Given the description of an element on the screen output the (x, y) to click on. 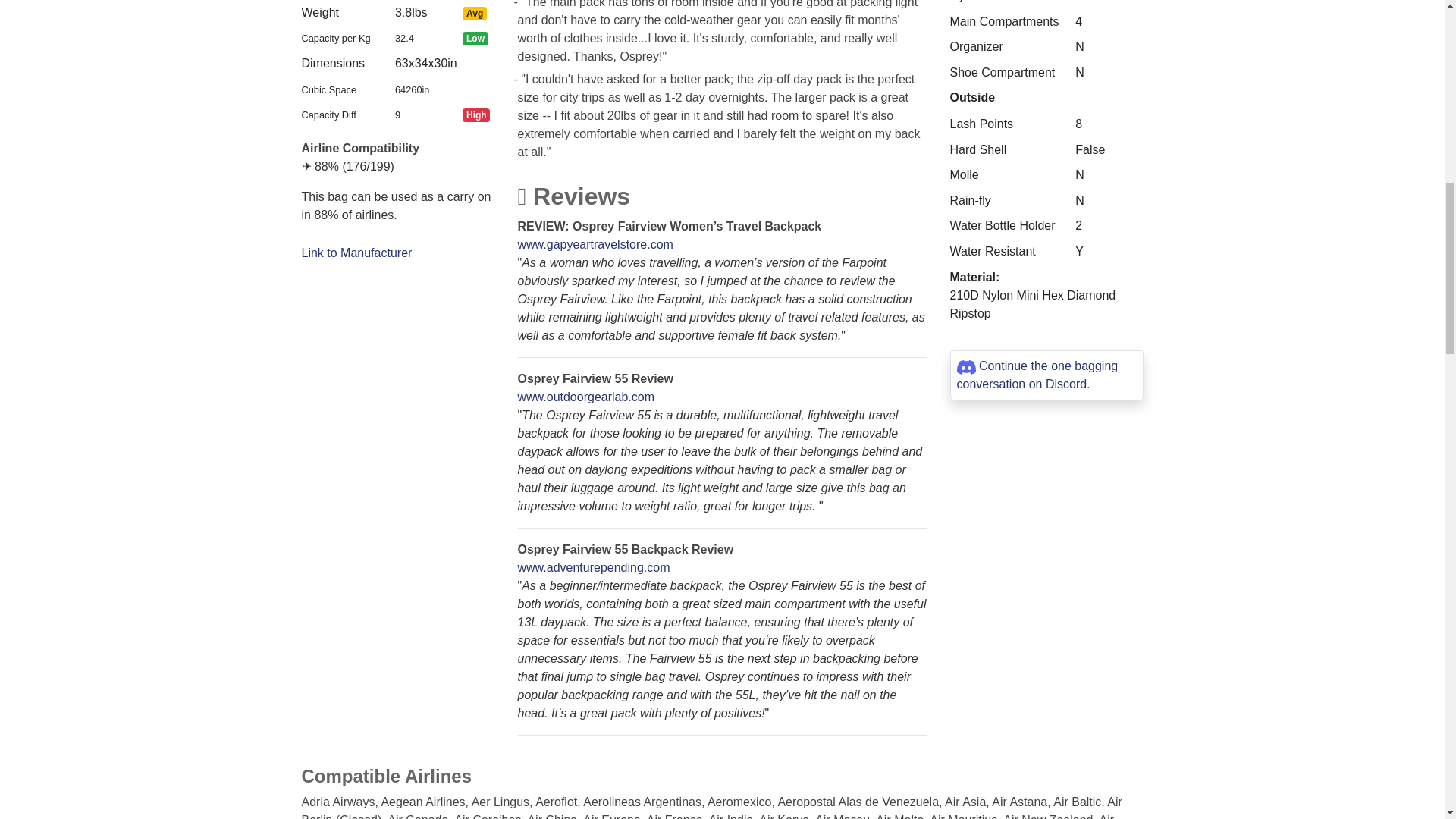
Link to Manufacturer (356, 252)
www.outdoorgearlab.com (584, 396)
Discord (1065, 383)
www.gapyeartravelstore.com (594, 244)
Continue the one bagging conversation on (1037, 374)
www.adventurepending.com (592, 567)
